Given the description of an element on the screen output the (x, y) to click on. 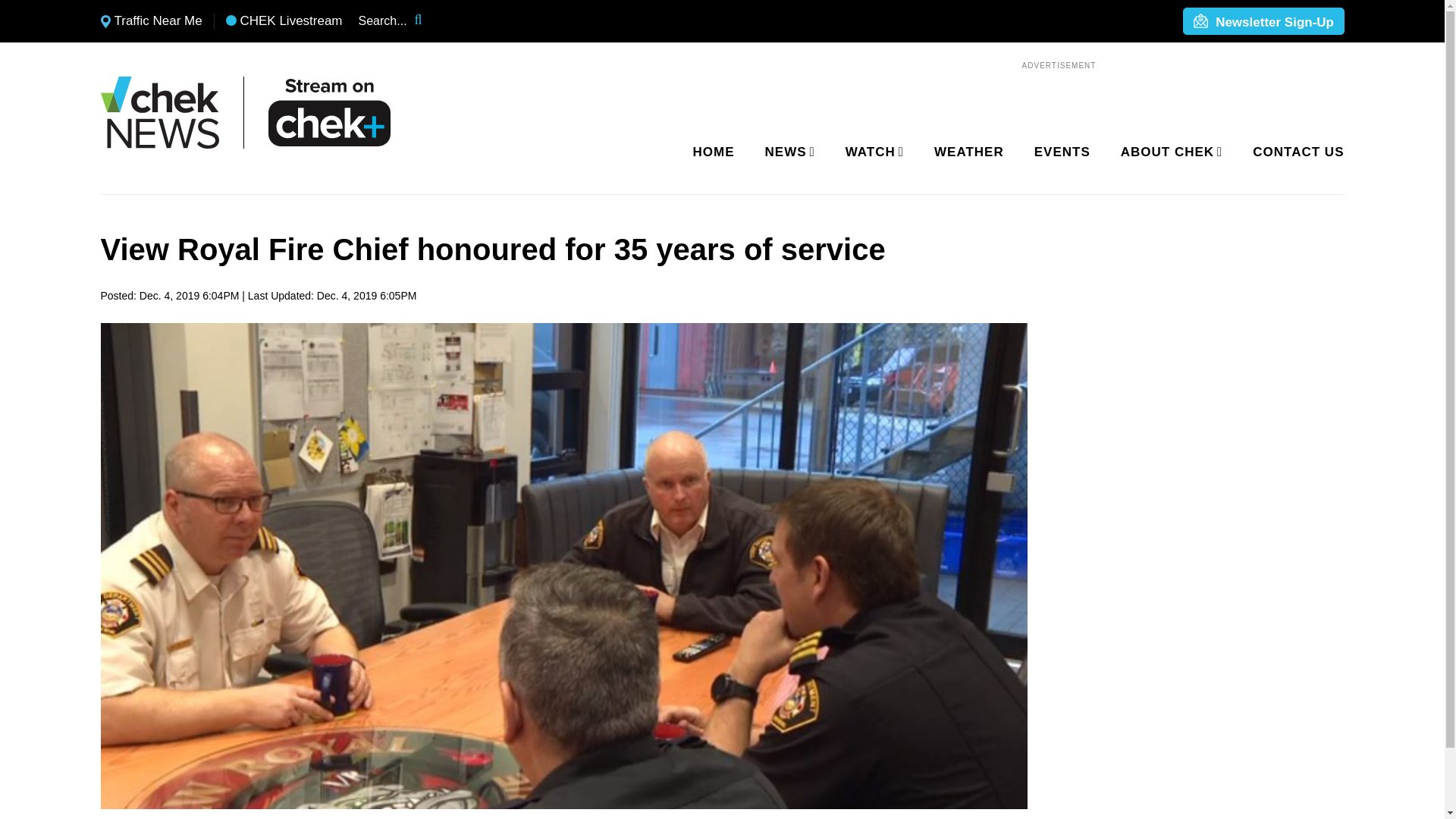
Newsletter Sign-Up (1262, 22)
CHEK Livestream (283, 20)
Traffic Near Me (151, 20)
NEWS (787, 152)
HOME (714, 152)
Search (428, 21)
